Given the description of an element on the screen output the (x, y) to click on. 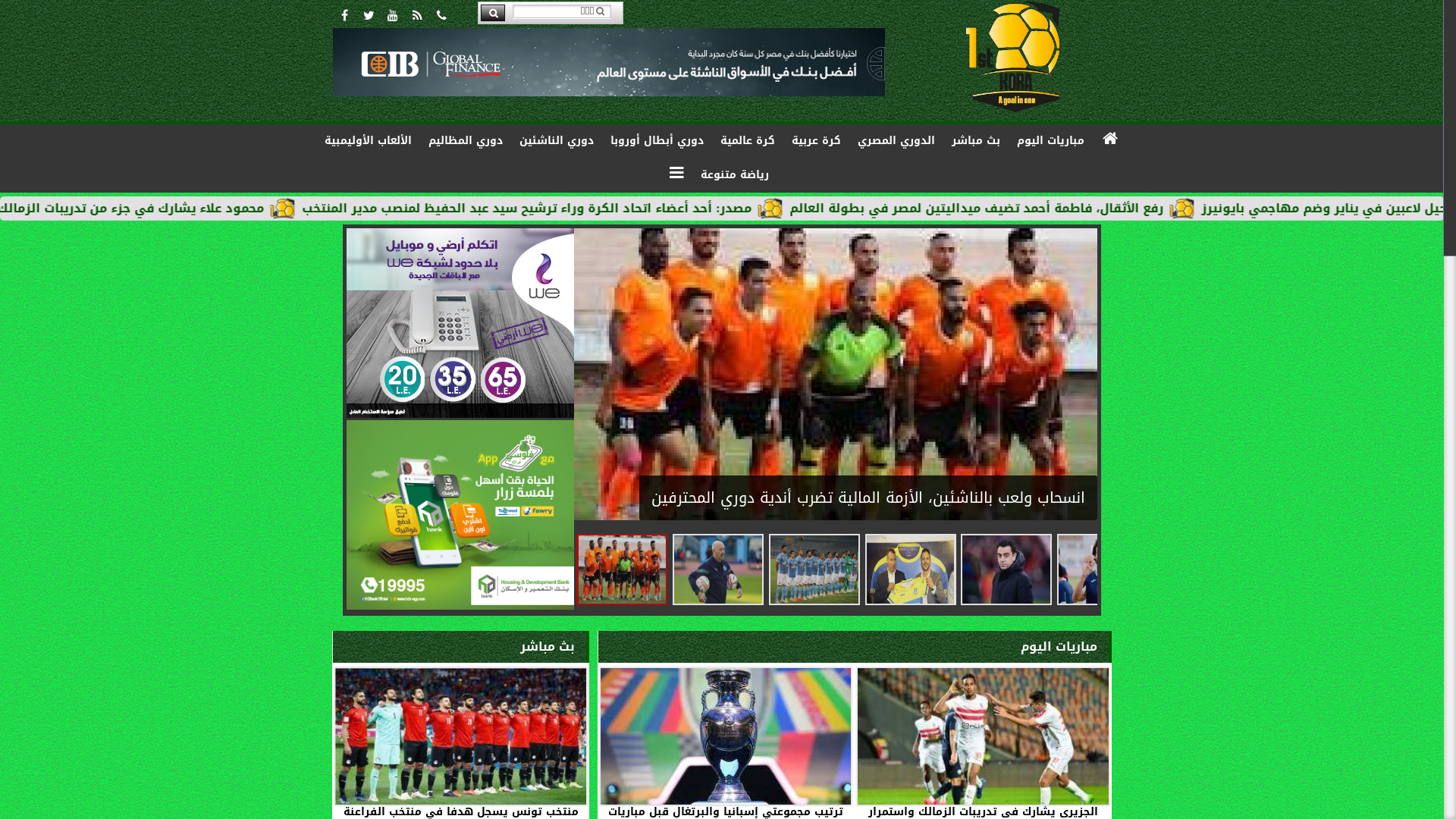
WE Element type: hover (460, 322)
CIB Element type: hover (608, 62)
WE Element type: hover (460, 413)
